Given the description of an element on the screen output the (x, y) to click on. 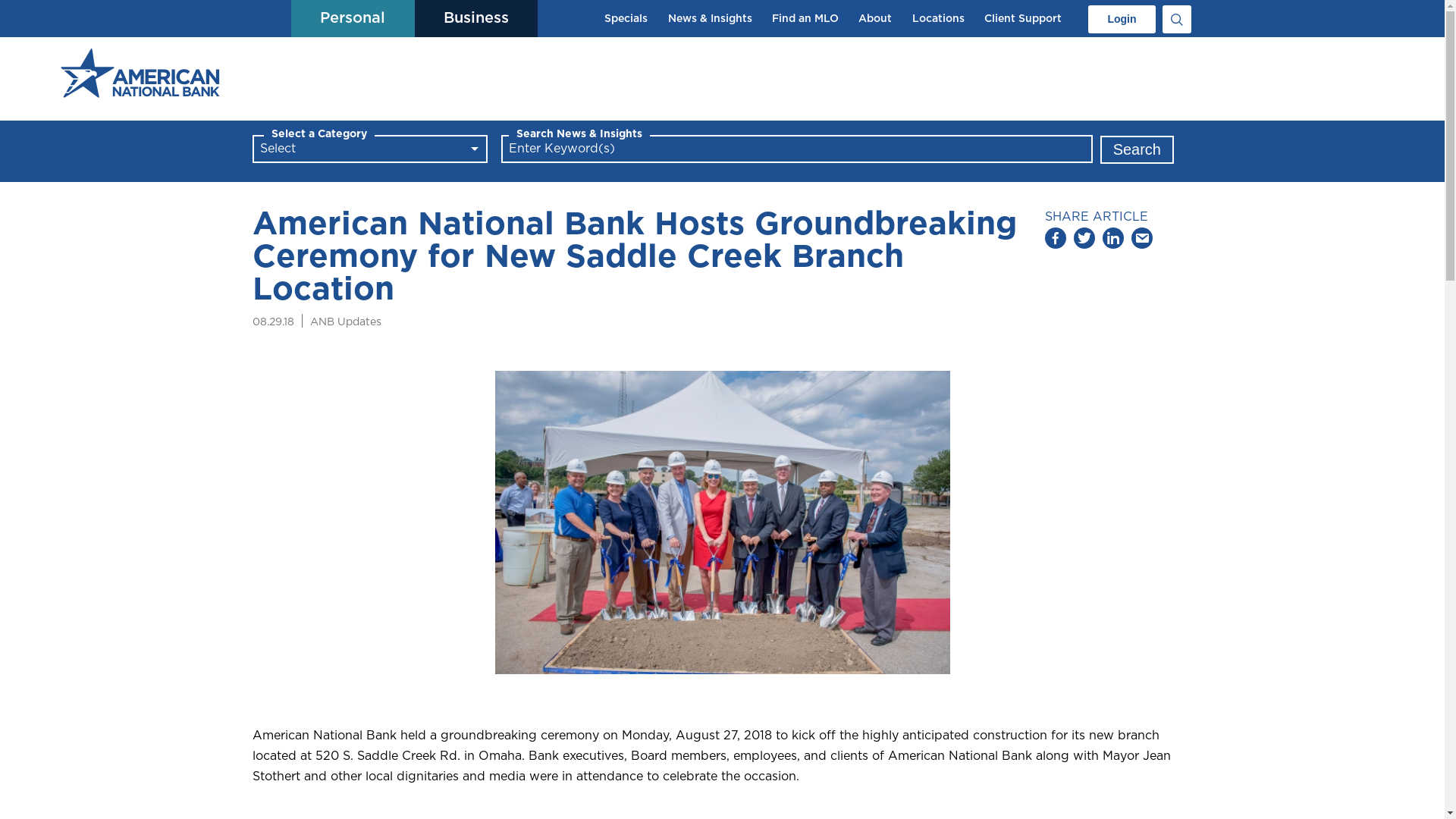
About Element type: text (874, 18)
Share on Linked In Element type: hover (1114, 241)
Client Support Element type: text (1022, 18)
Tweet this Element type: hover (1085, 241)
Share via email Element type: hover (1143, 241)
Share on Facebook Element type: hover (1057, 241)
Find an MLO Element type: text (805, 18)
Specials Element type: text (625, 18)
Personal Element type: text (352, 18)
Login Element type: text (1121, 18)
Business Element type: text (475, 18)
News & Insights Element type: text (710, 18)
Search Element type: text (1136, 148)
Locations Element type: text (938, 18)
